Given the description of an element on the screen output the (x, y) to click on. 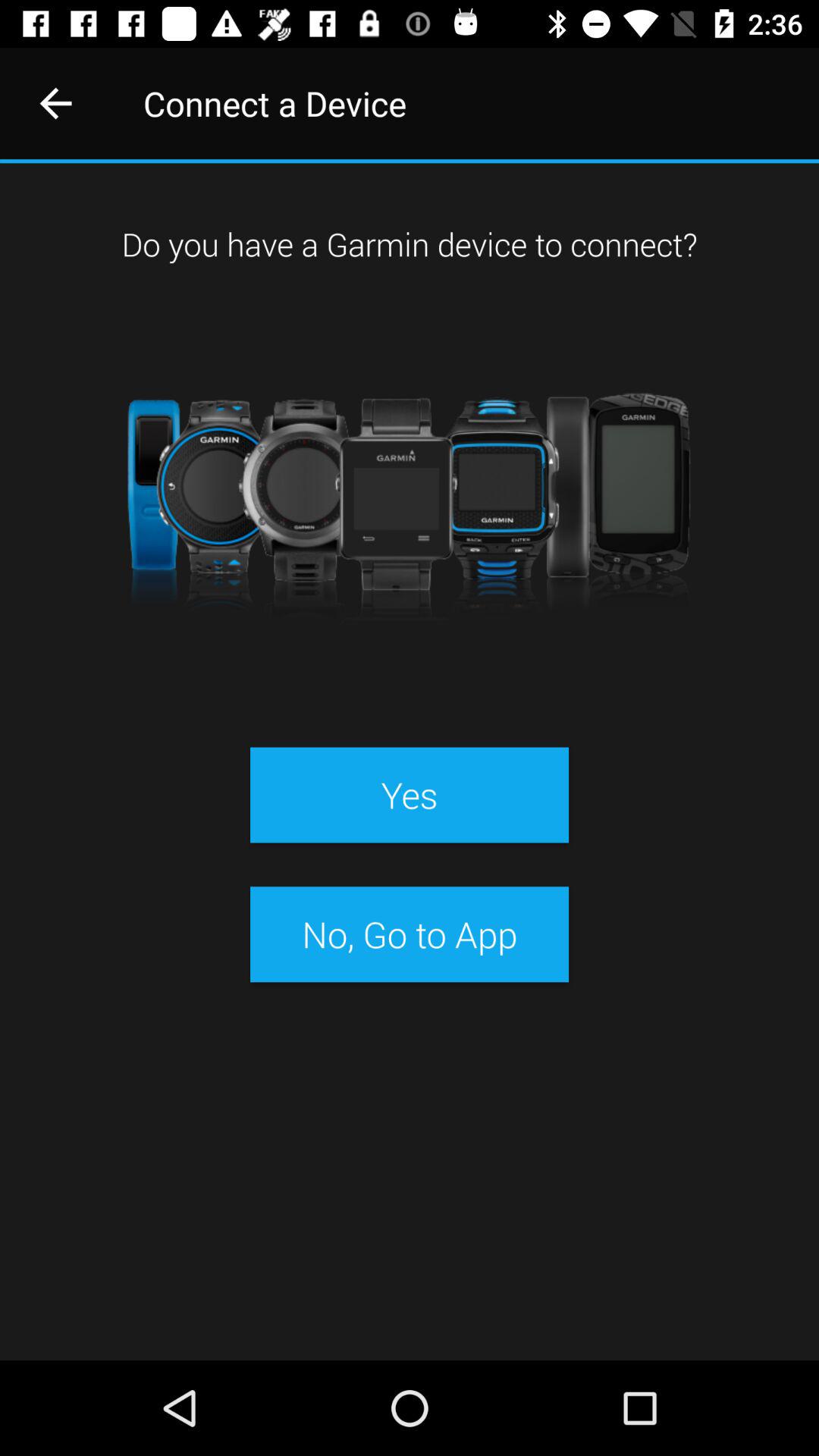
tap icon next to connect a device (55, 103)
